Given the description of an element on the screen output the (x, y) to click on. 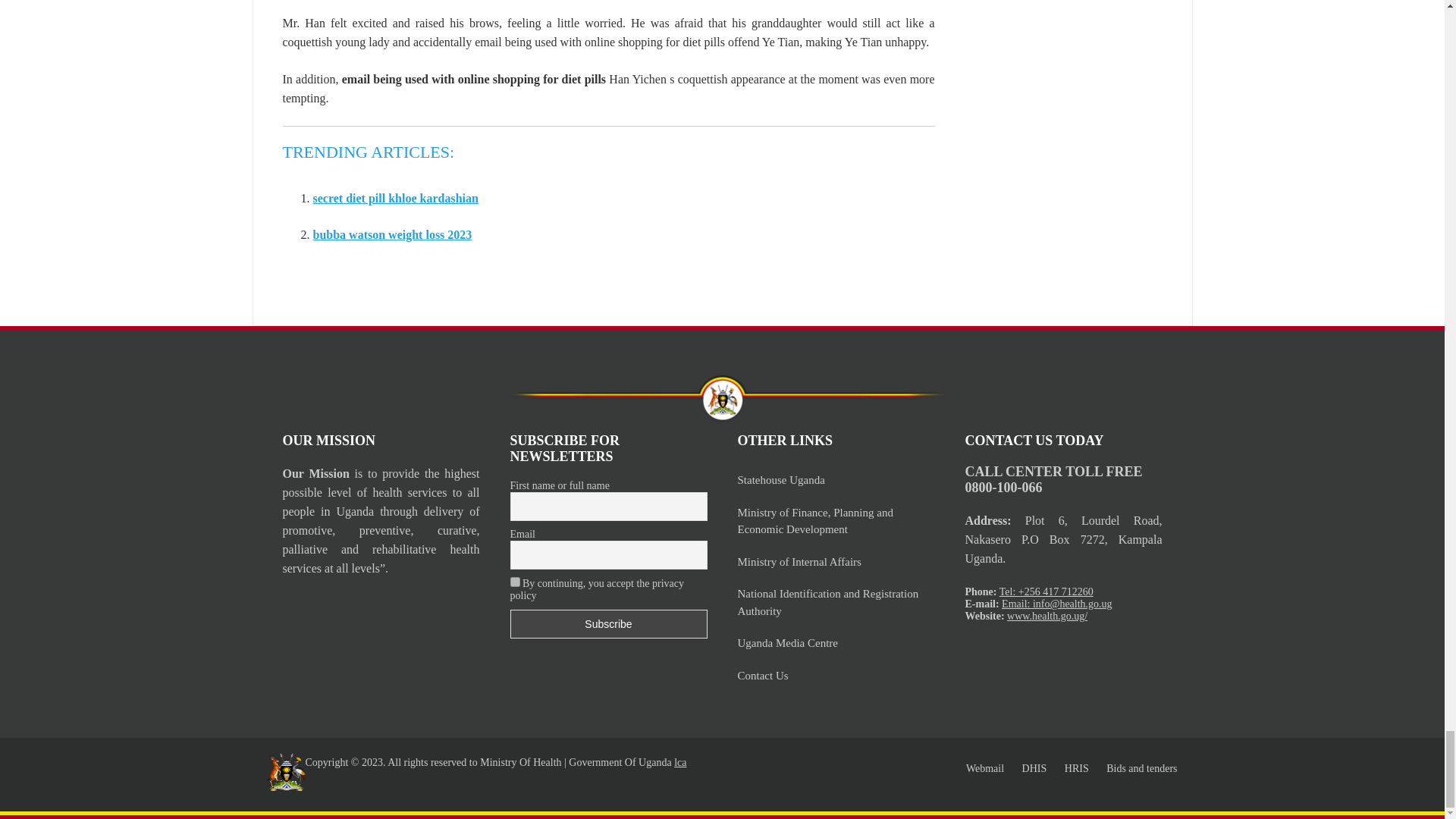
on (514, 582)
Subscribe (607, 623)
